Given the description of an element on the screen output the (x, y) to click on. 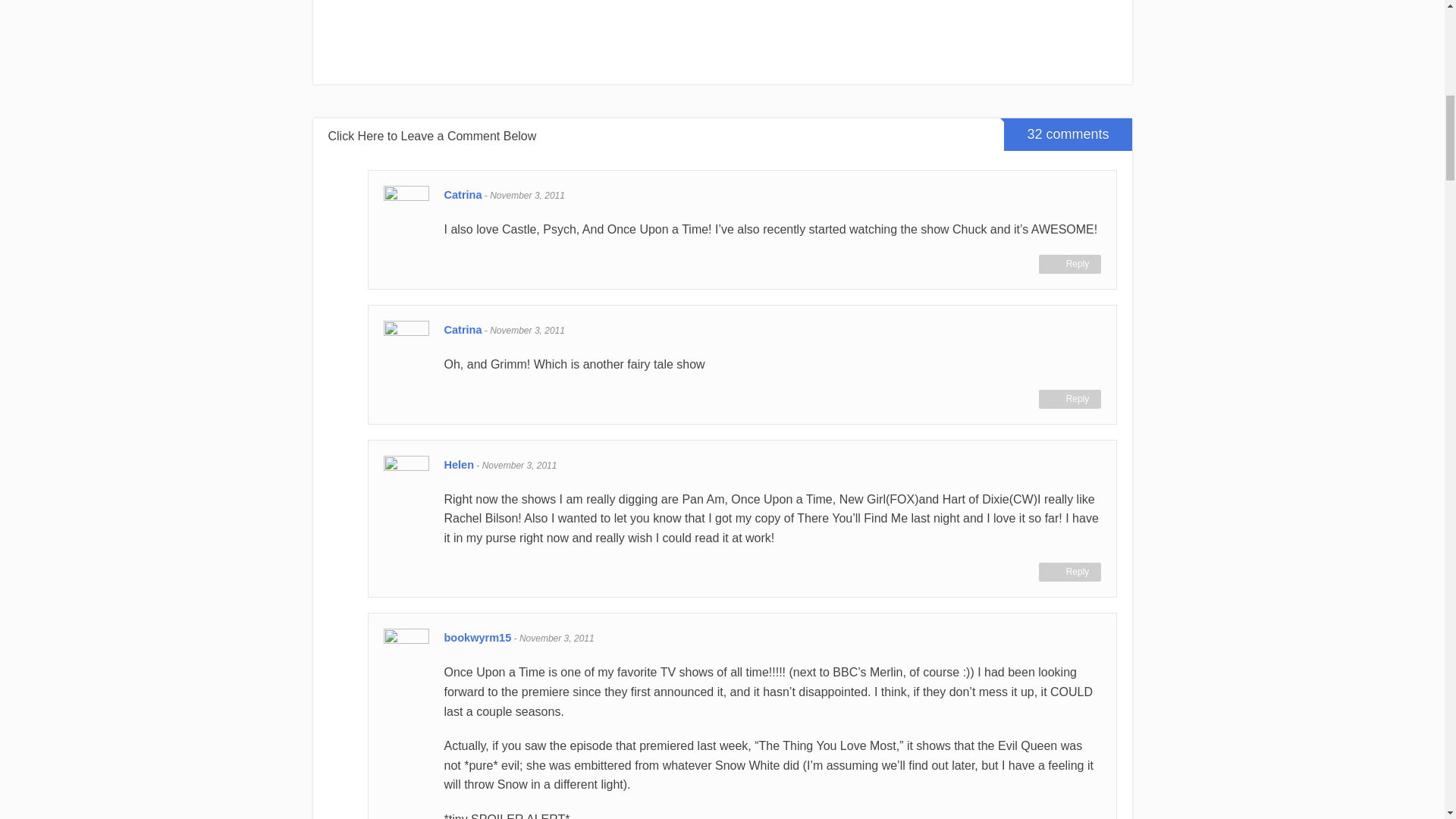
Reply (1069, 571)
Reply (1069, 263)
Reply (1069, 398)
